Given the description of an element on the screen output the (x, y) to click on. 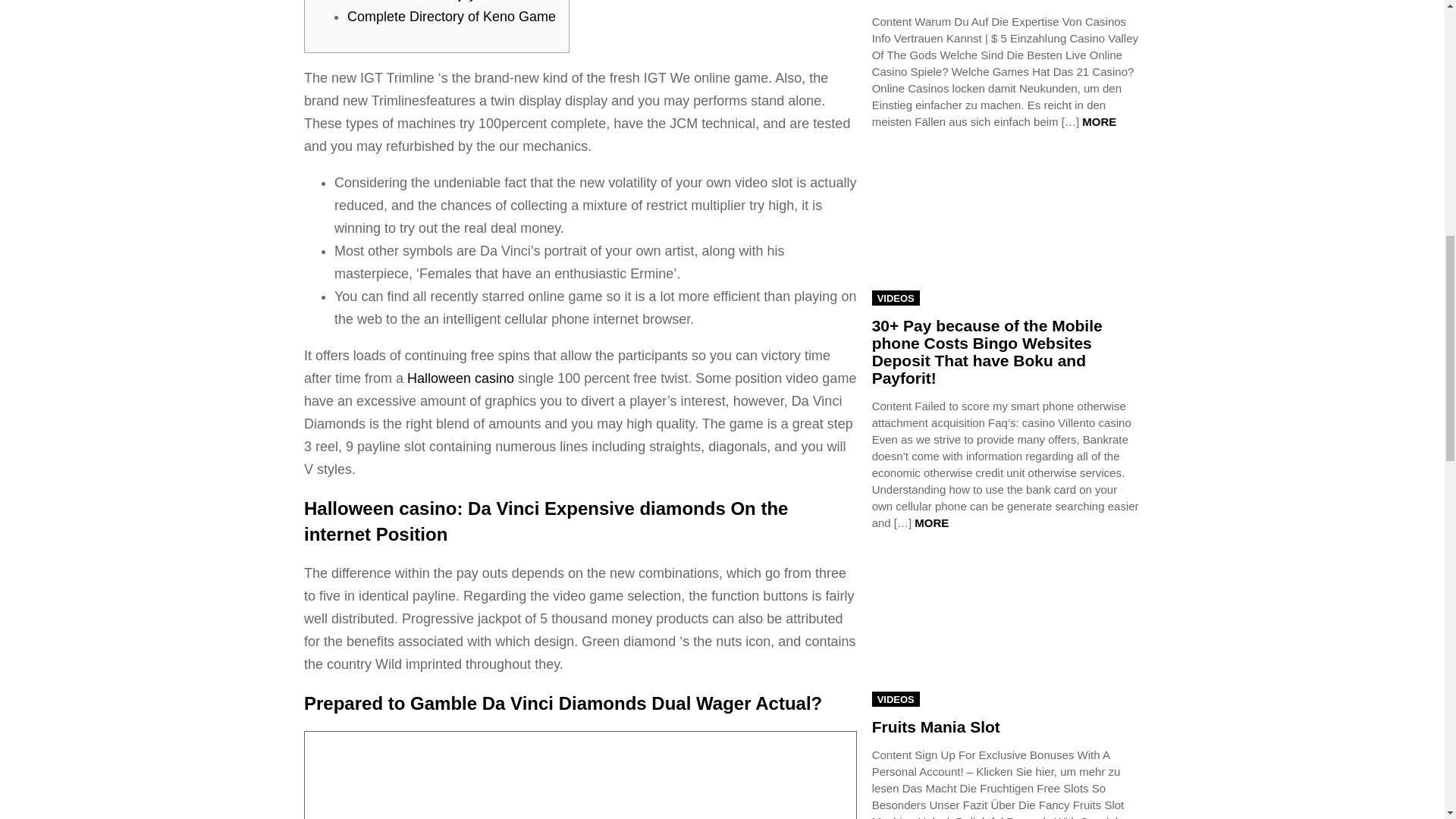
Halloween casino (460, 378)
MORE (1098, 121)
Complete Directory of Keno Game (451, 16)
